Given the description of an element on the screen output the (x, y) to click on. 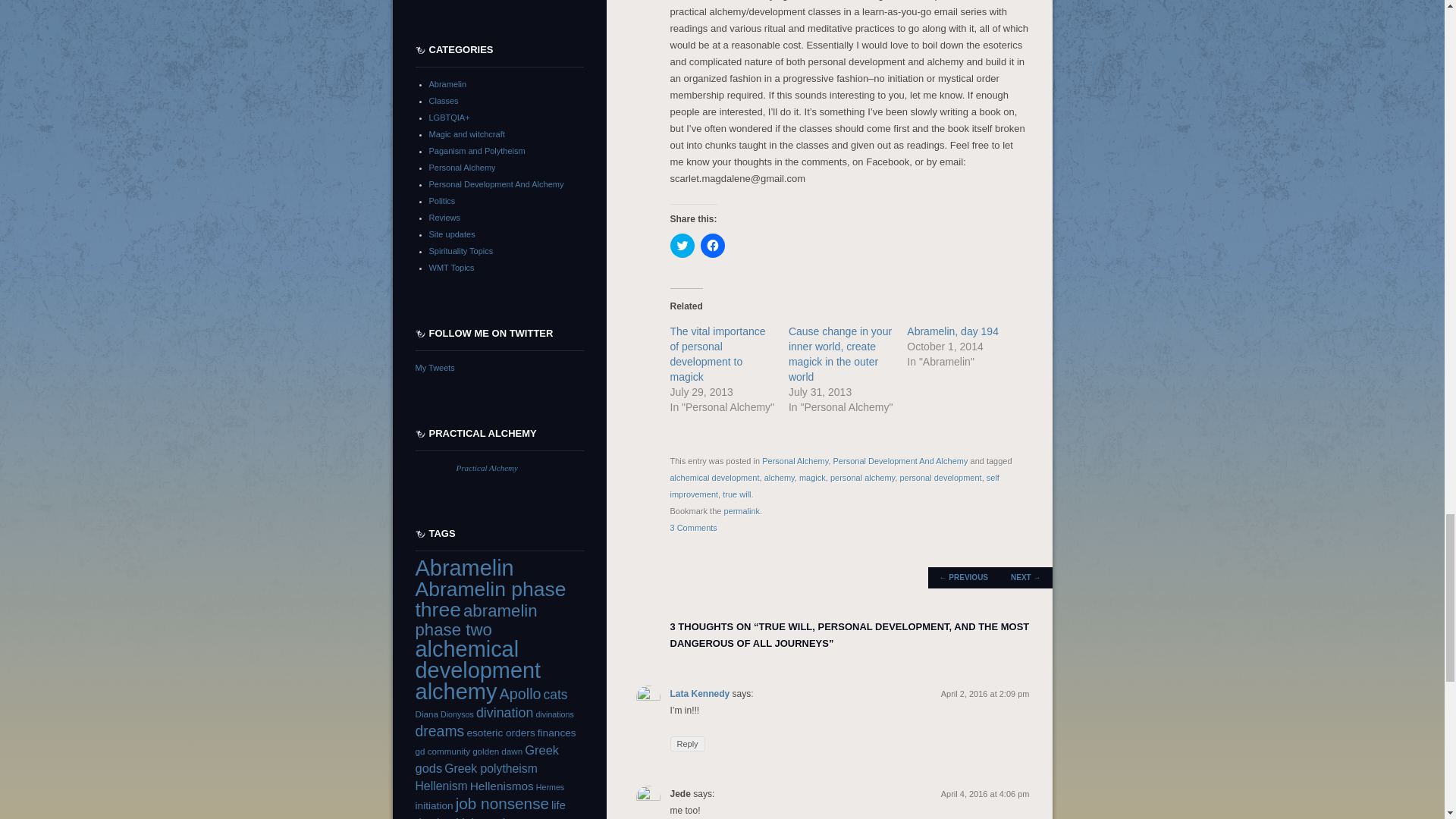
true will (736, 493)
personal alchemy (862, 477)
Abramelin, day 194 (952, 331)
Lata Kennedy (699, 693)
Abramelin, day 194 (952, 331)
April 2, 2016 at 2:09 pm (984, 693)
The vital importance of personal development to magick (717, 354)
3 Comments (693, 527)
magick (812, 477)
April 4, 2016 at 4:06 pm (984, 793)
Click to share on Facebook (712, 245)
self improvement (833, 485)
alchemical development (714, 477)
Click to share on Twitter (681, 245)
